Given the description of an element on the screen output the (x, y) to click on. 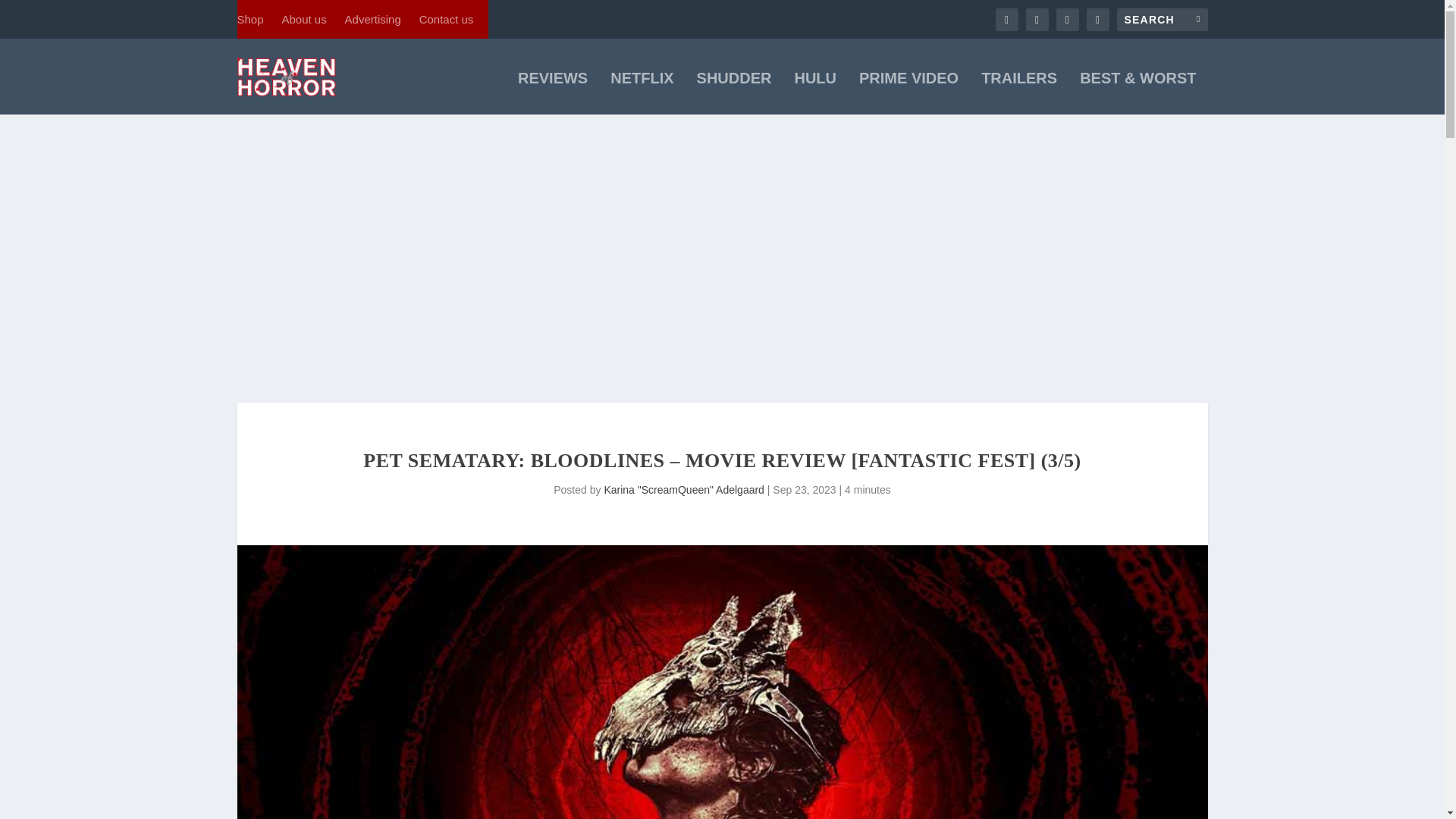
Karina "ScreamQueen" Adelgaard (684, 490)
REVIEWS (553, 93)
Search for: (1161, 18)
TRAILERS (1019, 93)
HULU (814, 93)
About us (303, 19)
Contact us (446, 19)
SHUDDER (734, 93)
Advertising (373, 19)
PRIME VIDEO (908, 93)
NETFLIX (641, 93)
Posts by Karina "ScreamQueen" Adelgaard (684, 490)
